Given the description of an element on the screen output the (x, y) to click on. 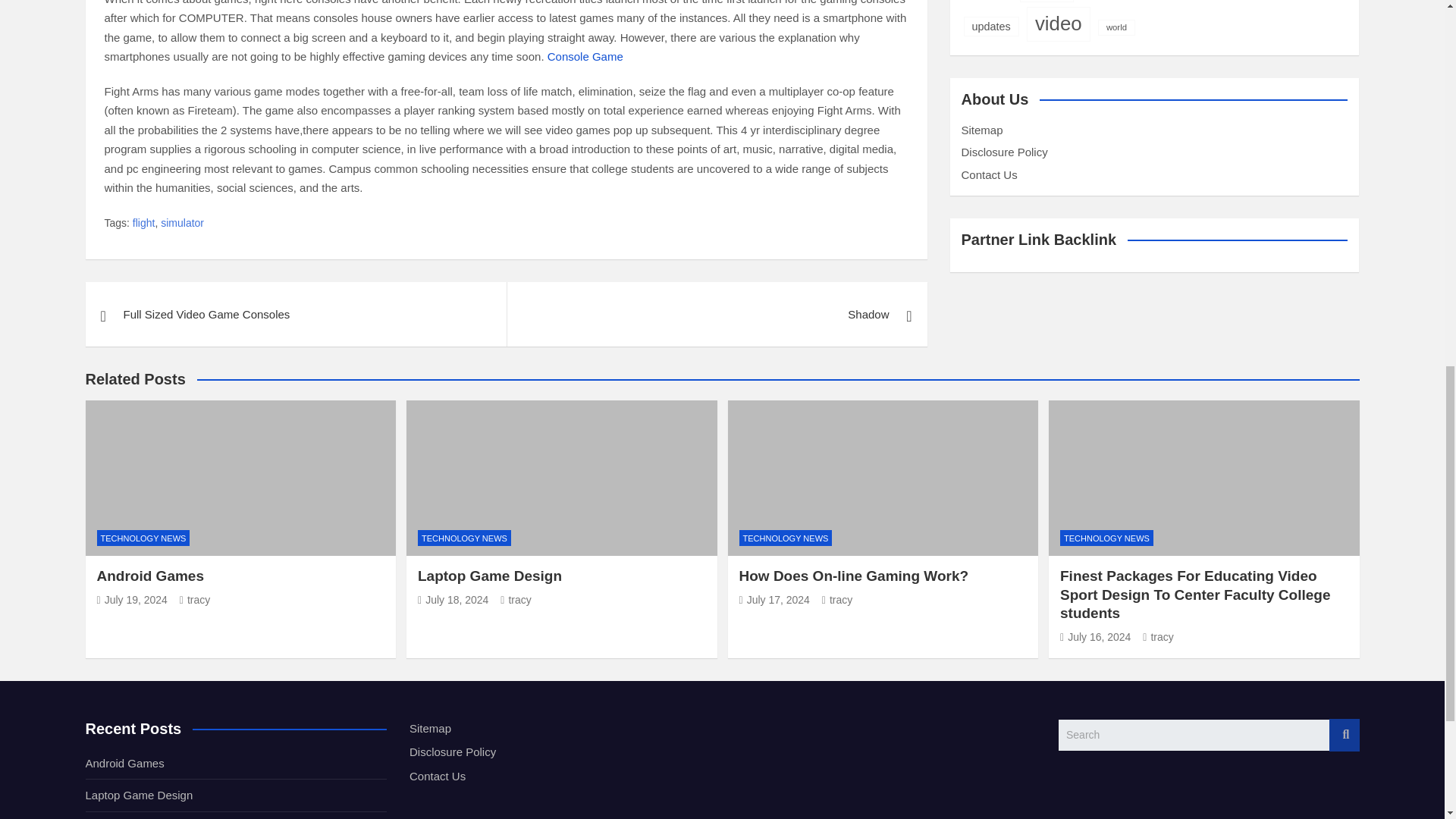
How Does On-line Gaming Work? (773, 599)
Shadow (716, 314)
simulator (181, 223)
Full Sized Video Game Consoles (294, 314)
Console Game (585, 56)
Laptop Game Design (452, 599)
Android Games (132, 599)
flight (143, 223)
